Given the description of an element on the screen output the (x, y) to click on. 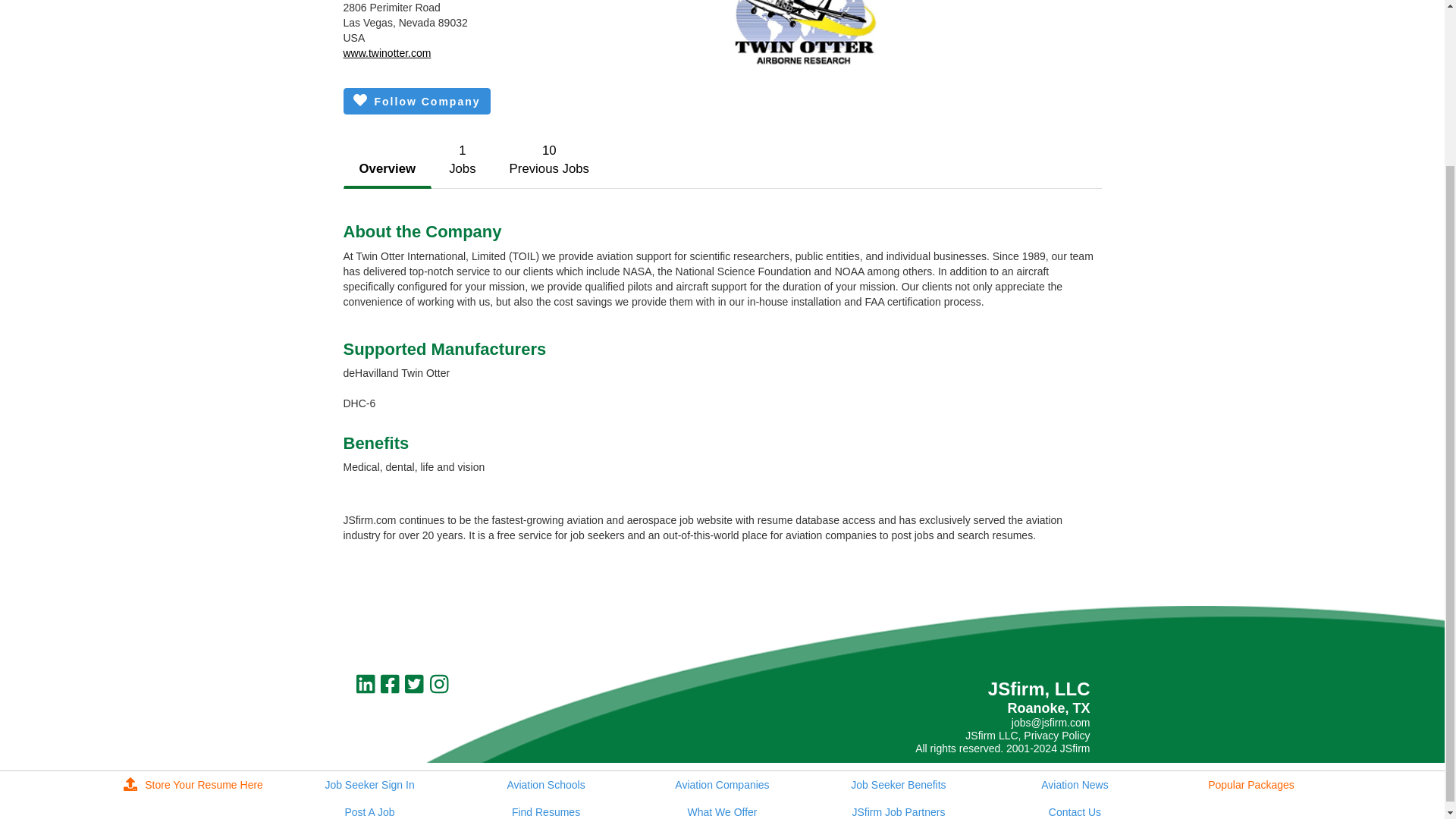
www.twinotter.com (386, 52)
Overview (386, 170)
Twin Otter Airborne Research (809, 36)
Follow Company (549, 159)
